Given the description of an element on the screen output the (x, y) to click on. 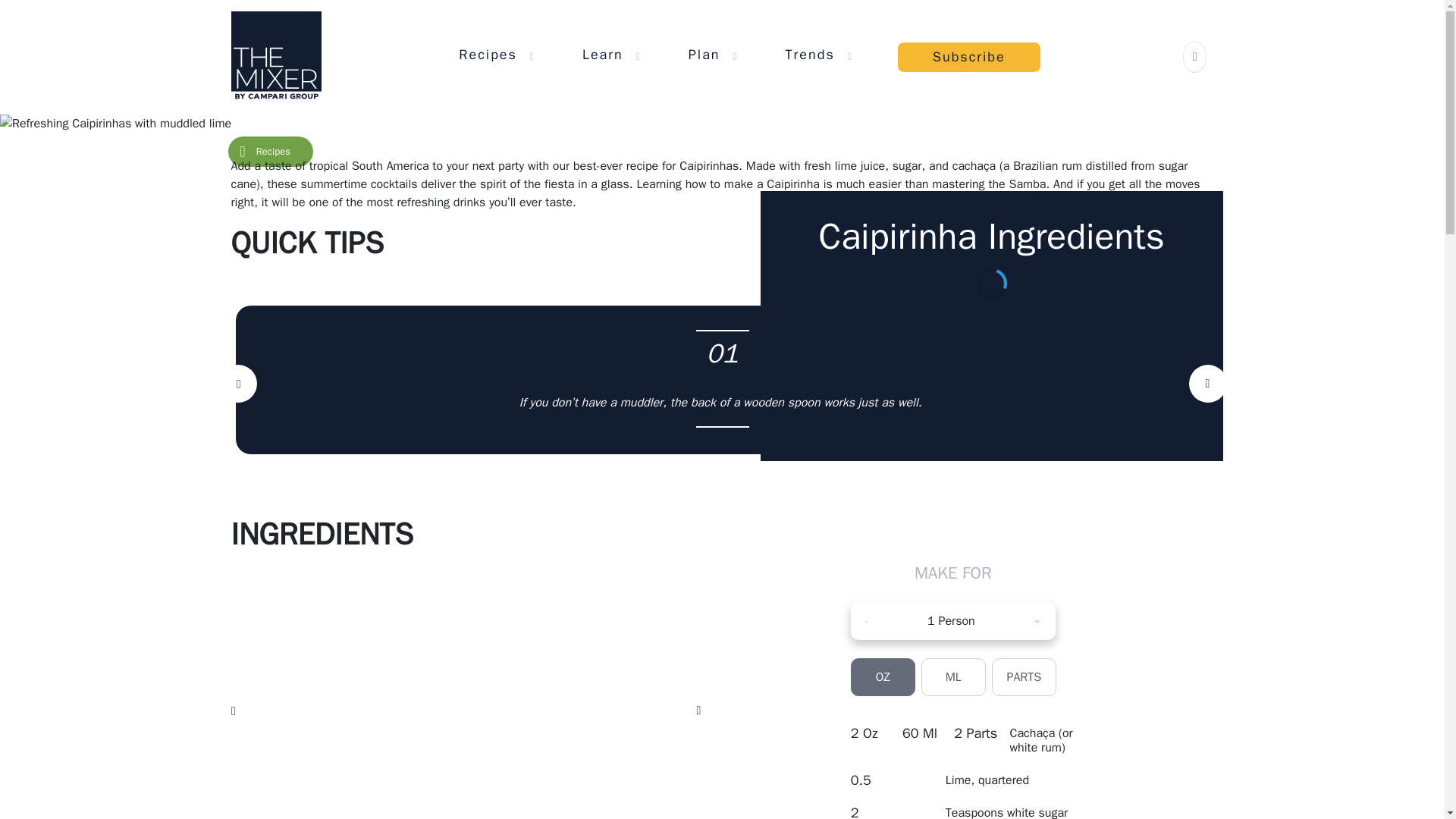
Plan (704, 53)
Trends (809, 53)
Learn (602, 53)
Search Opener (1195, 56)
The Mixer (275, 56)
The Mixer (275, 56)
Recipes (487, 53)
